Given the description of an element on the screen output the (x, y) to click on. 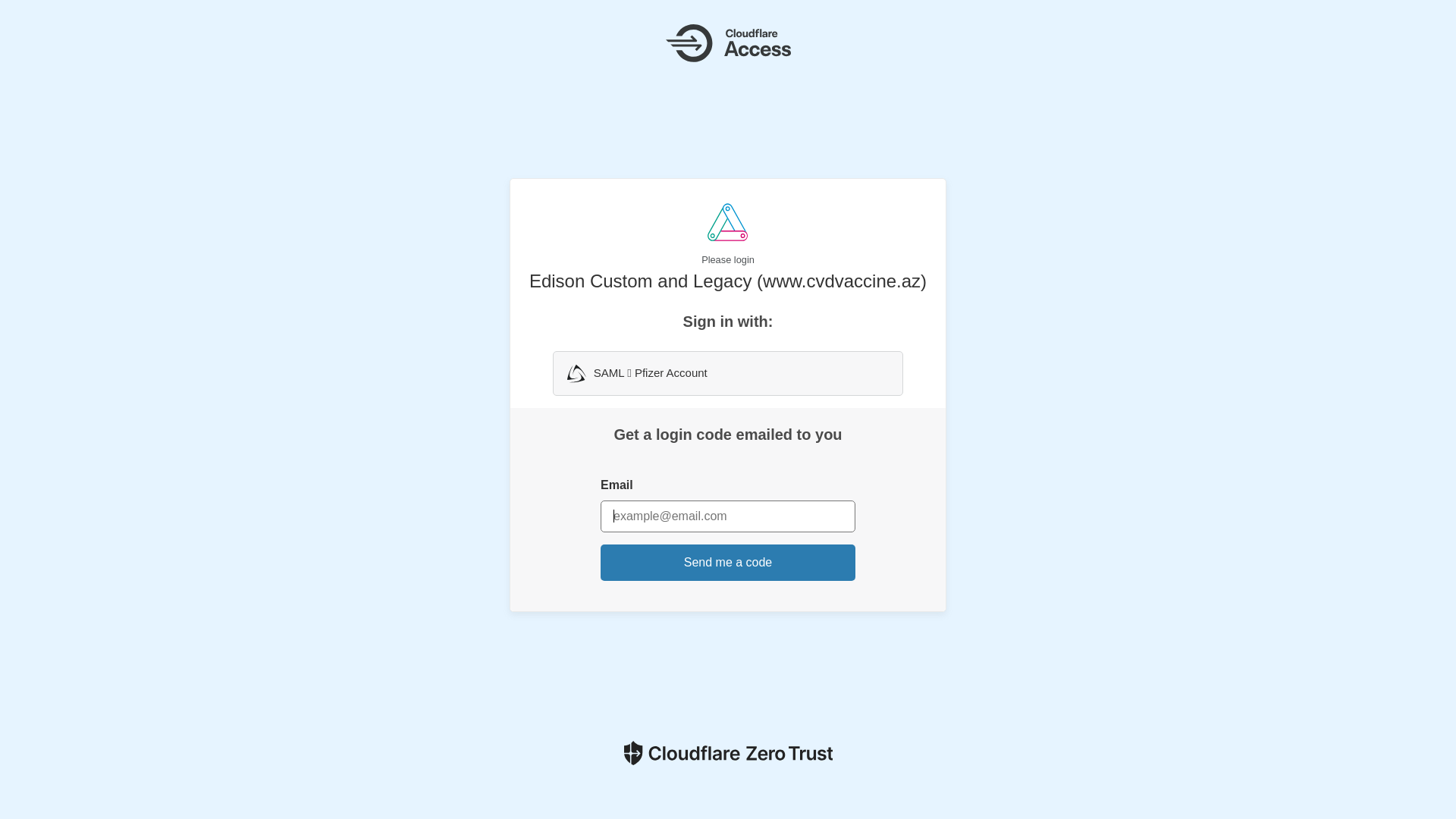
Send me a code Element type: text (727, 562)
Please login Element type: text (727, 234)
